Given the description of an element on the screen output the (x, y) to click on. 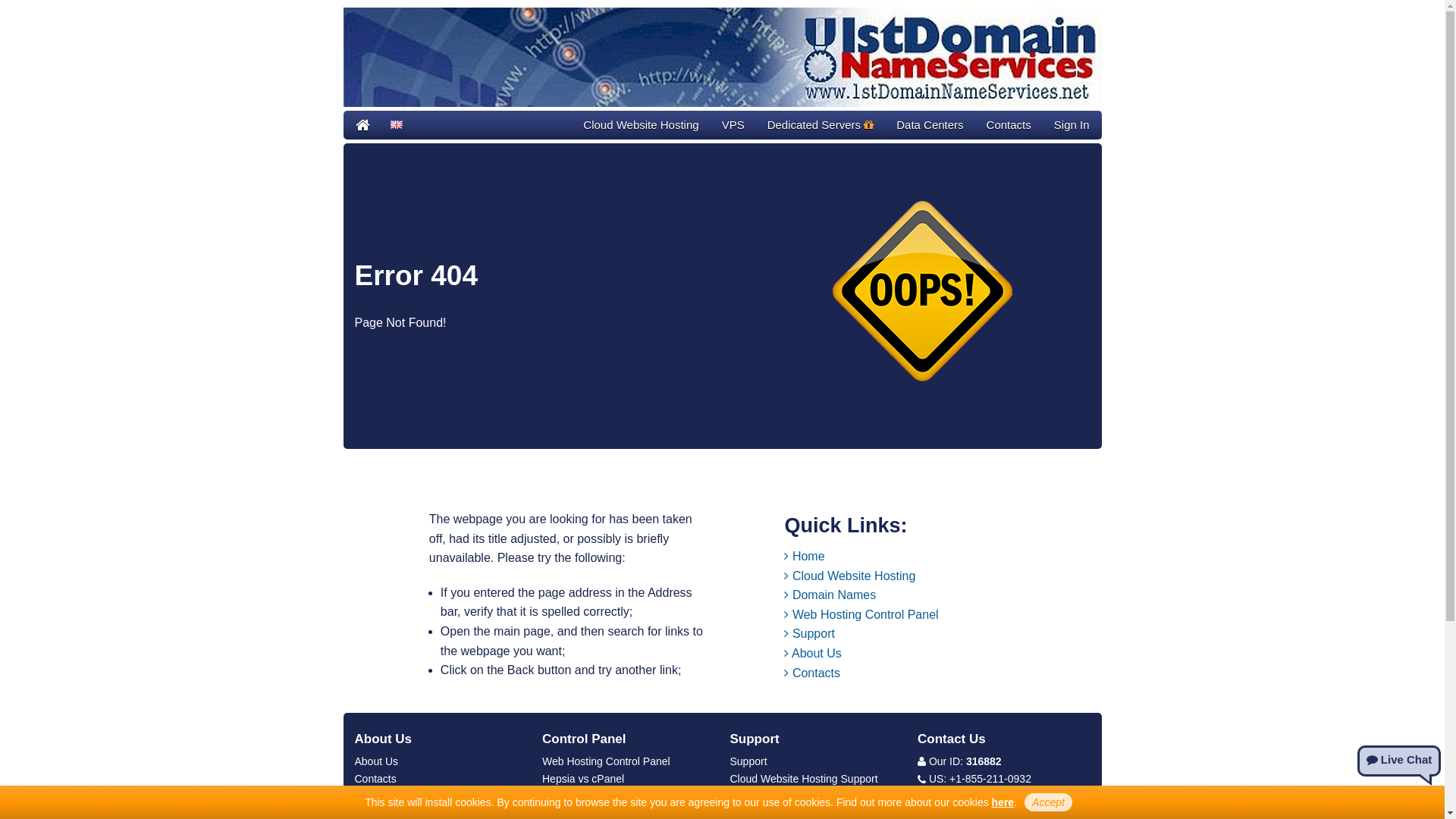
Support Element type: text (747, 761)
1stDomainNameServices Element type: hover (721, 56)
VPS Web Hosting Support Element type: text (791, 796)
1stDomainNameServices Element type: hover (361, 124)
Web Hosting Control Panel Element type: text (861, 614)
Why Us Element type: text (373, 796)
Contacts Element type: text (375, 778)
About Us Element type: text (812, 652)
Accept Element type: text (1048, 802)
Support Element type: text (809, 633)
Web Accelerators Element type: text (583, 796)
Hepsia vs cPanel Element type: text (583, 778)
Cloud Website Hosting Element type: text (640, 124)
Domain Names Element type: text (829, 594)
Contacts Element type: text (812, 672)
Live Chat Element type: text (1398, 760)
Cloud Website Hosting Support Element type: text (803, 778)
About Us Element type: text (376, 761)
here Element type: text (1002, 802)
Web Hosting Control Panel Element type: text (606, 761)
Data Centers Element type: text (929, 124)
Sign In Element type: text (1071, 124)
Contacts Element type: text (1008, 124)
VPS Element type: text (733, 124)
Dedicated Servers Element type: text (820, 124)
Cloud Website Hosting Element type: text (849, 575)
Home Element type: text (804, 555)
